Given the description of an element on the screen output the (x, y) to click on. 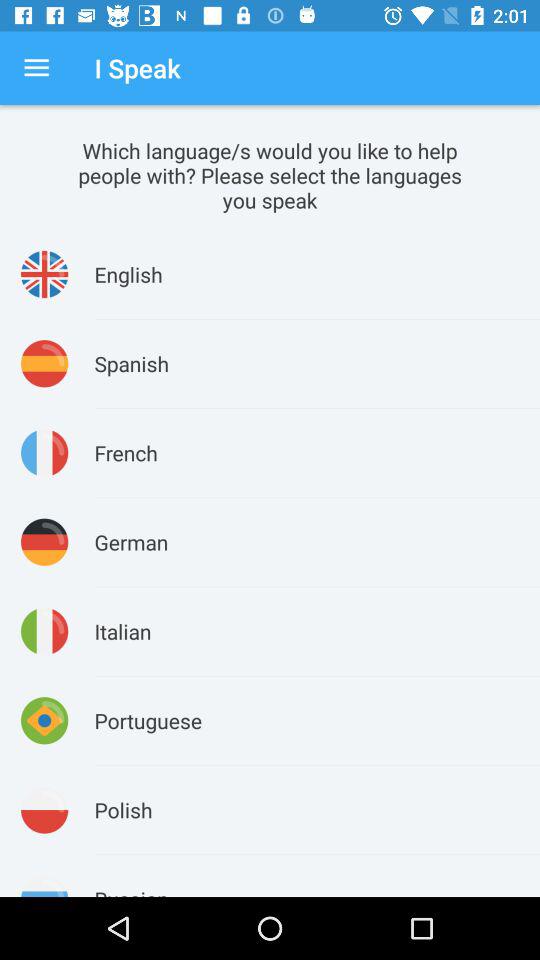
choose app next to i speak icon (36, 68)
